Given the description of an element on the screen output the (x, y) to click on. 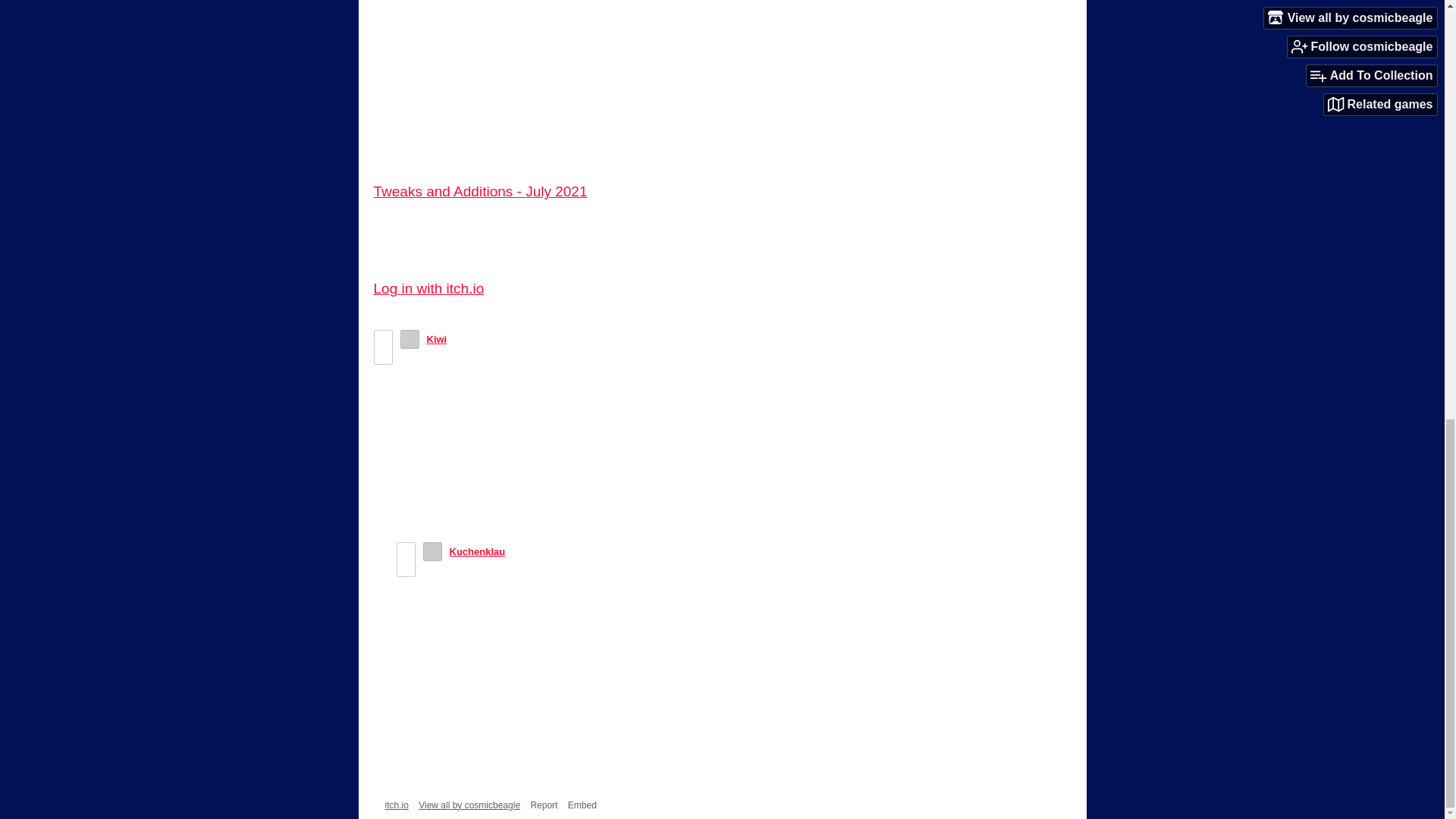
Vote up (405, 550)
Reply (435, 737)
Kiwi (436, 338)
Vote up (382, 338)
Tweaks and Additions - July 2021 (479, 191)
2024-02-14 09:51:59 (542, 551)
Vote down (382, 355)
2023-06-22 23:02:00 (477, 338)
1 year ago (477, 338)
Rising Tide, Playbook (447, 68)
